Given the description of an element on the screen output the (x, y) to click on. 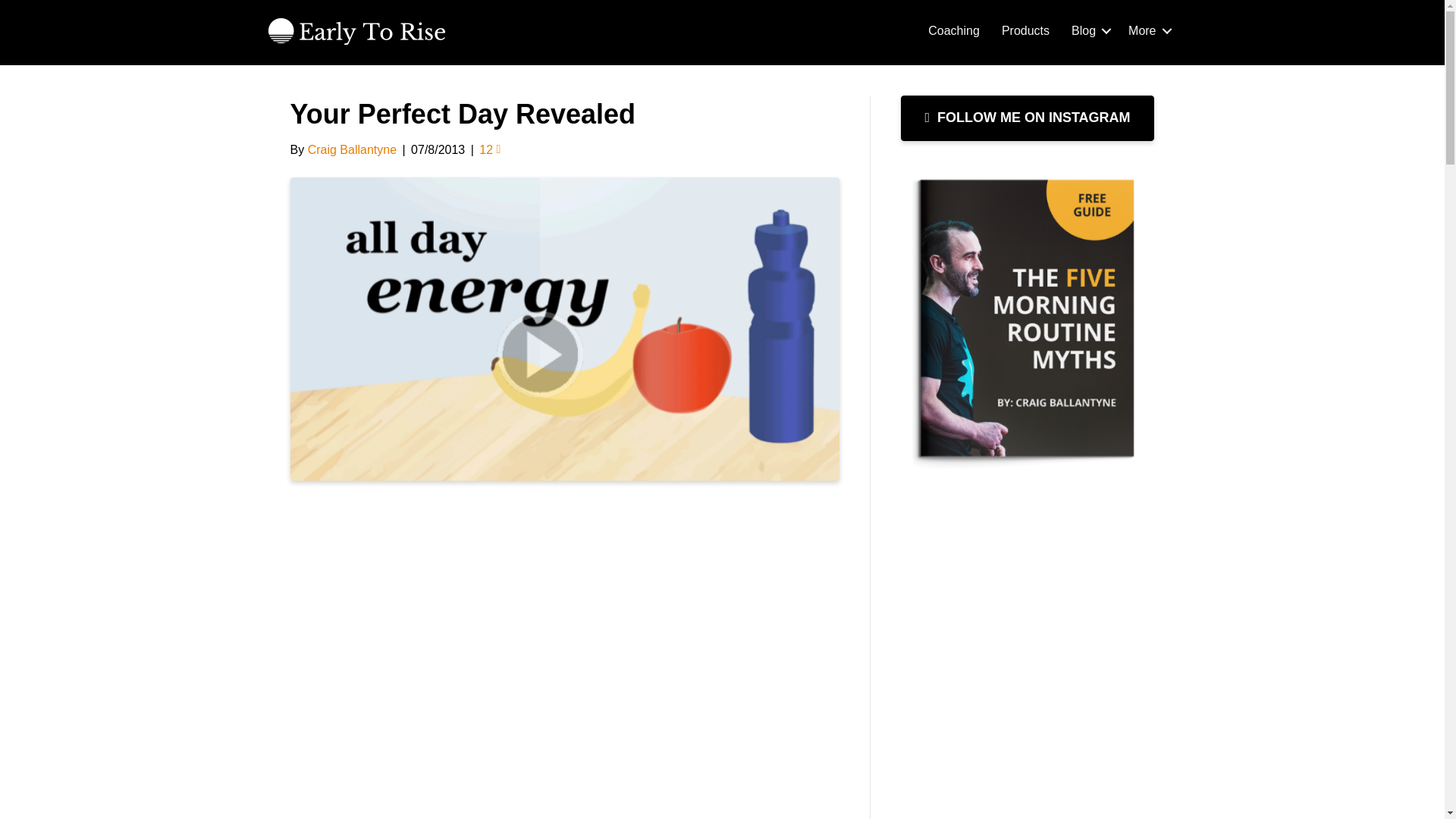
Coaching (953, 30)
More (1147, 30)
FOLLOW ME ON INSTAGRAM (1027, 117)
Products (1025, 30)
Craig Ballantyne (351, 149)
12 (489, 149)
etr-logo-white (356, 31)
Blog (1088, 30)
